Given the description of an element on the screen output the (x, y) to click on. 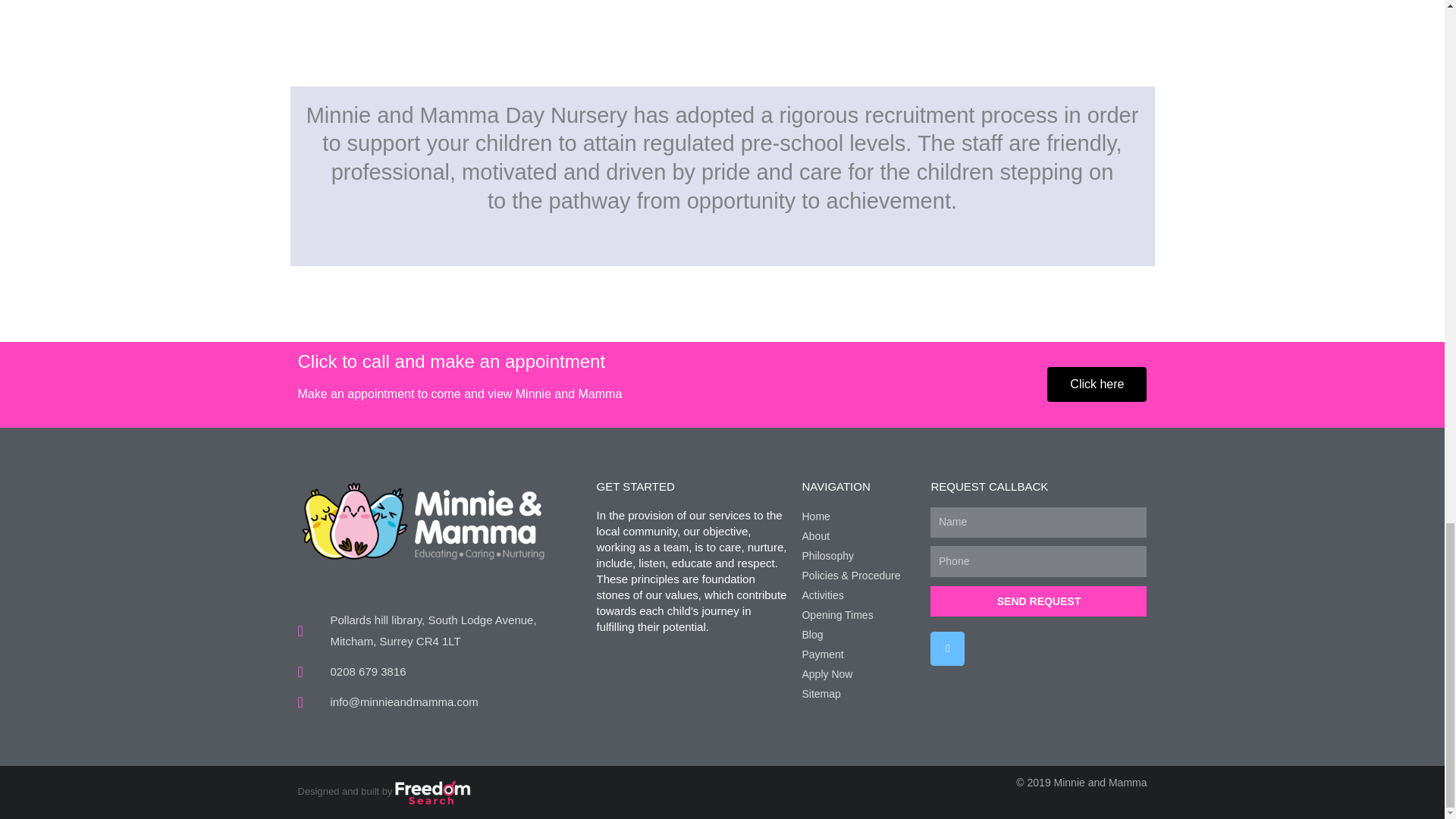
Opening Times (858, 615)
Apply Now (858, 674)
Blog (858, 635)
Sitemap (858, 693)
Facebook (946, 648)
Philosophy (858, 556)
Payment (858, 655)
Click here (1096, 384)
Activities (858, 596)
Home (858, 516)
0208 679 3816 (438, 671)
SEND REQUEST (1038, 601)
About (858, 537)
